Given the description of an element on the screen output the (x, y) to click on. 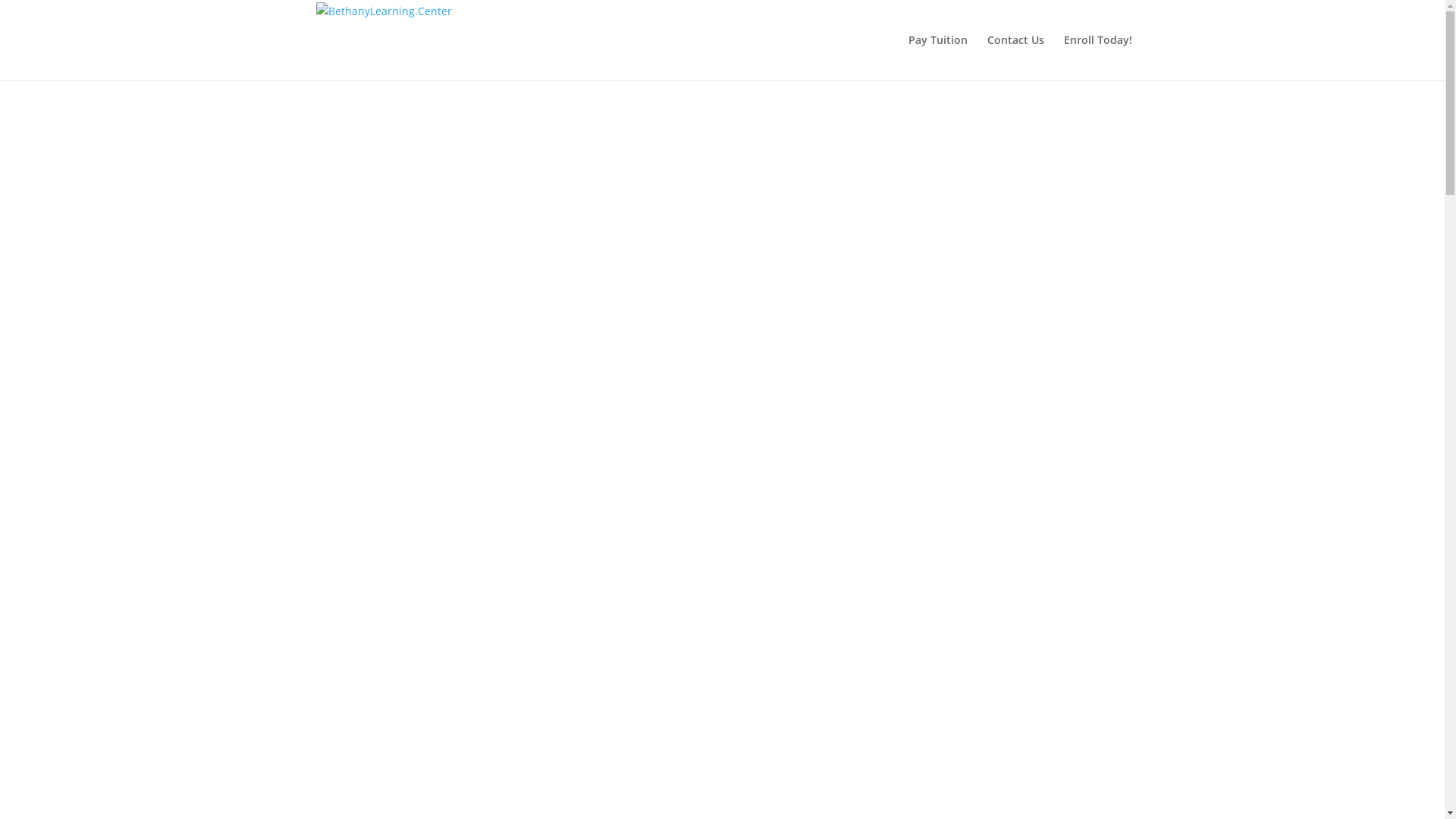
Enroll Today! Element type: text (1097, 57)
Contact Us Element type: text (1015, 57)
Pay Tuition Element type: text (937, 57)
